Given the description of an element on the screen output the (x, y) to click on. 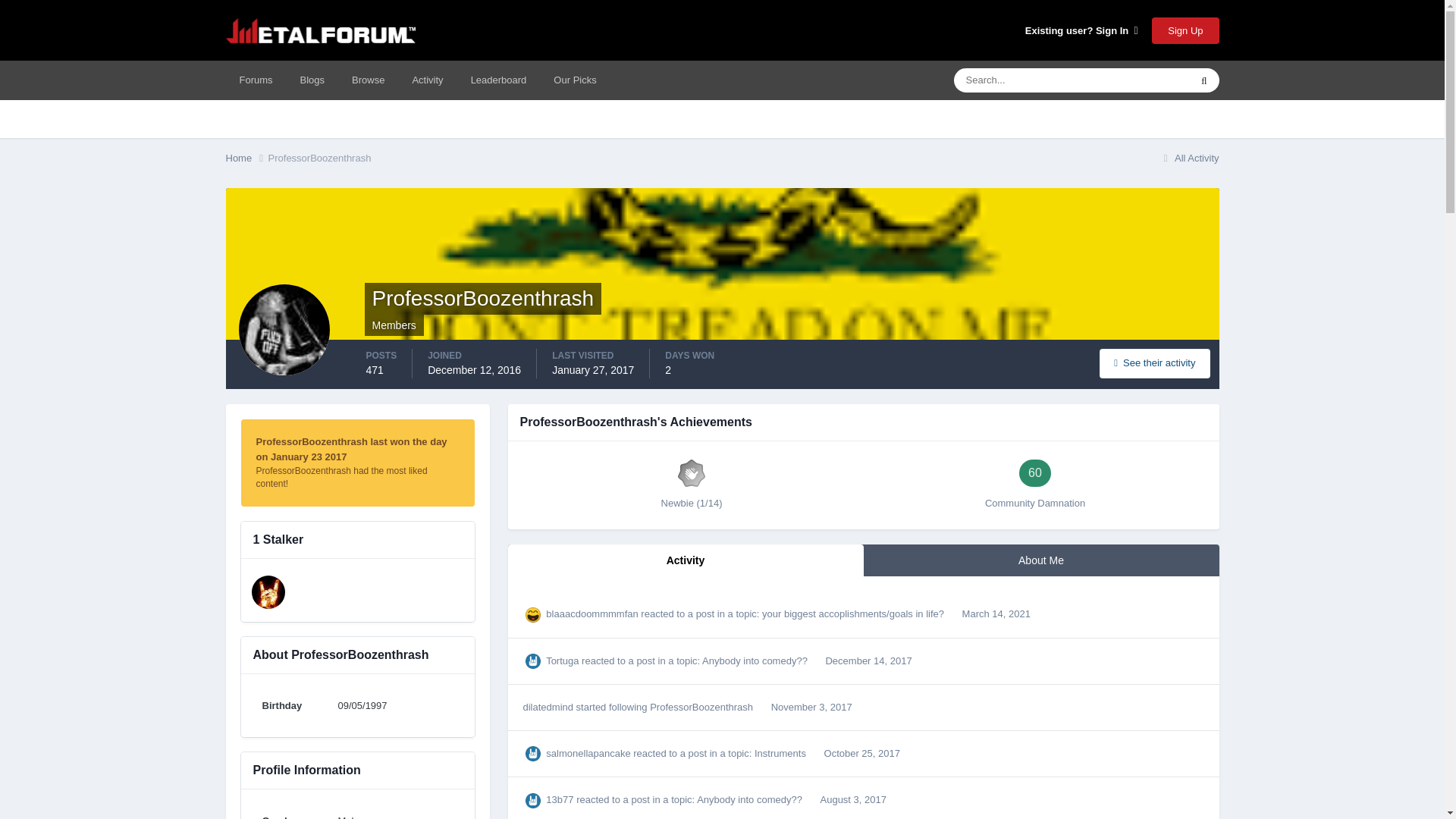
 See their activity (1154, 363)
dilatedmind (268, 592)
Sign Up (1184, 29)
Blogs (312, 79)
Home (246, 158)
All Activity (1188, 157)
Home (246, 158)
ProfessorBoozenthrash's Content (1154, 363)
Activity (427, 79)
ProfessorBoozenthrash last won the day on January 23 2017 (351, 448)
Leaderboard (498, 79)
Existing user? Sign In   (1081, 30)
Forums (255, 79)
Our Picks (575, 79)
ProfessorBoozenthrash (319, 157)
